Given the description of an element on the screen output the (x, y) to click on. 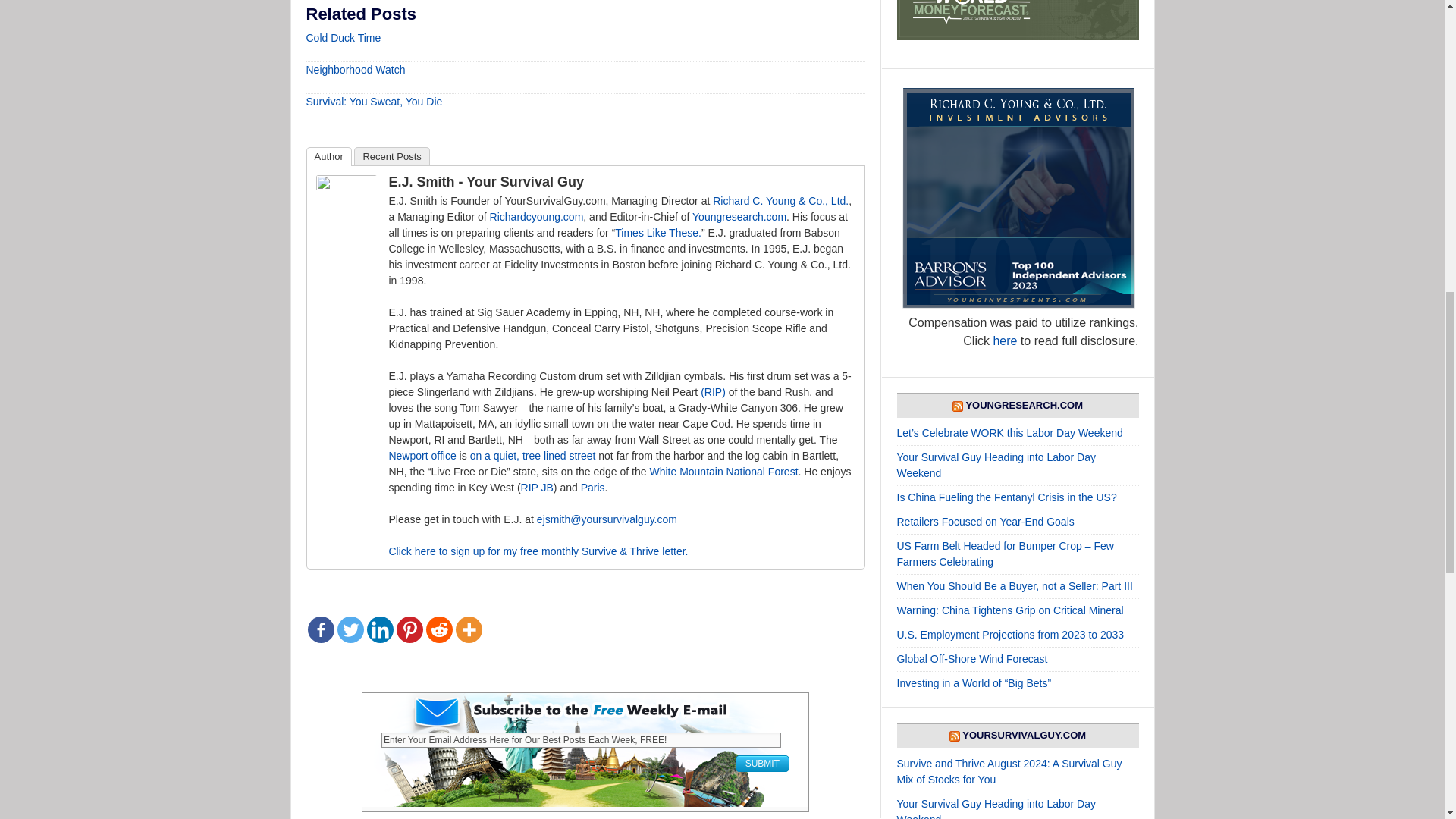
Neighborhood Watch (355, 69)
Submit (762, 763)
More (467, 629)
Linkedin (379, 629)
Facebook (320, 629)
Reddit (439, 629)
Pinterest (409, 629)
Cold Duck Time (343, 37)
Twitter (349, 629)
